Given the description of an element on the screen output the (x, y) to click on. 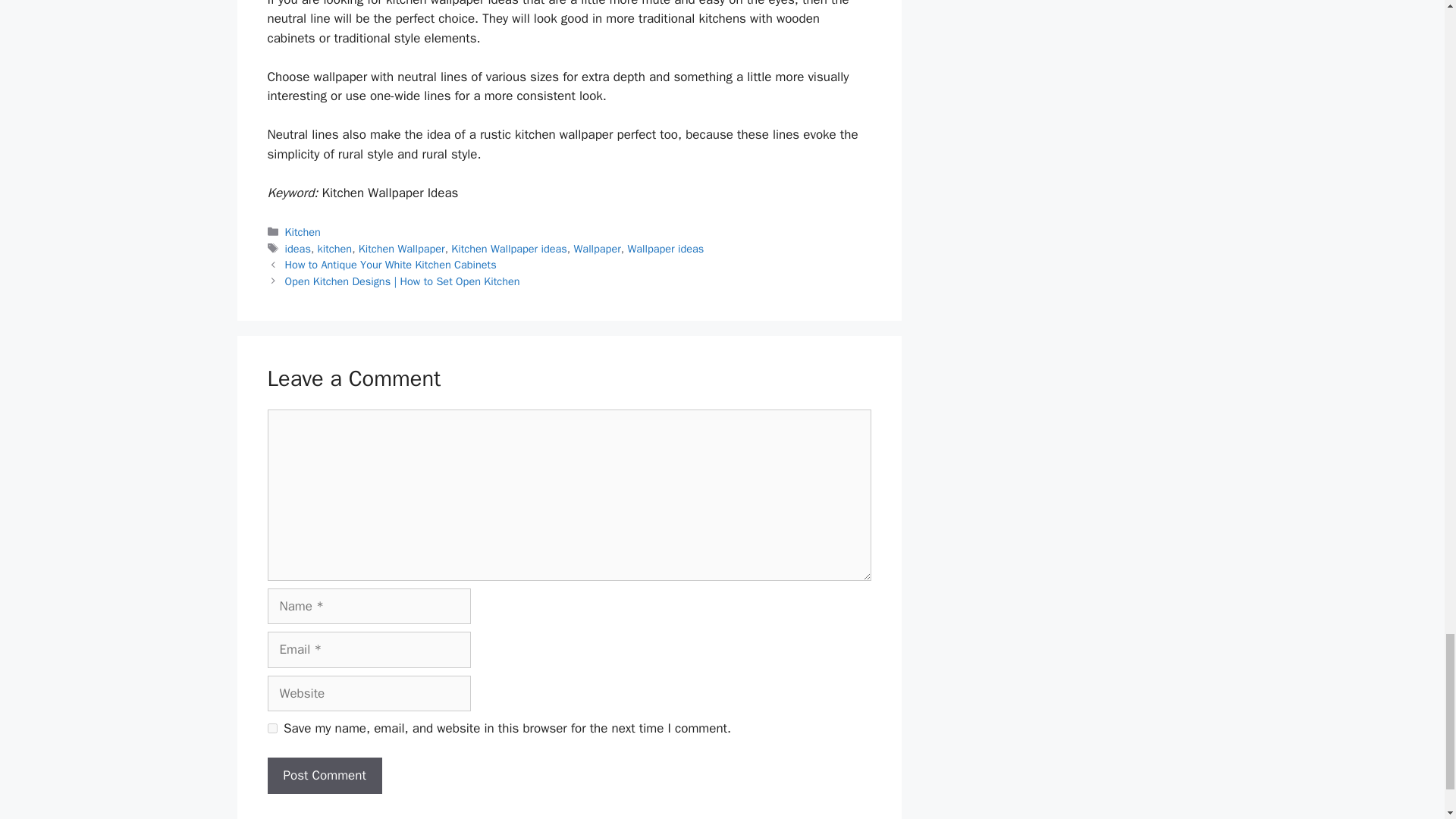
yes (271, 728)
ideas (298, 248)
Kitchen Wallpaper (401, 248)
Kitchen Wallpaper ideas (509, 248)
kitchen (334, 248)
Wallpaper ideas (665, 248)
Kitchen (302, 232)
How to Antique Your White Kitchen Cabinets (390, 264)
Post Comment (323, 775)
Post Comment (323, 775)
Wallpaper (597, 248)
